Given the description of an element on the screen output the (x, y) to click on. 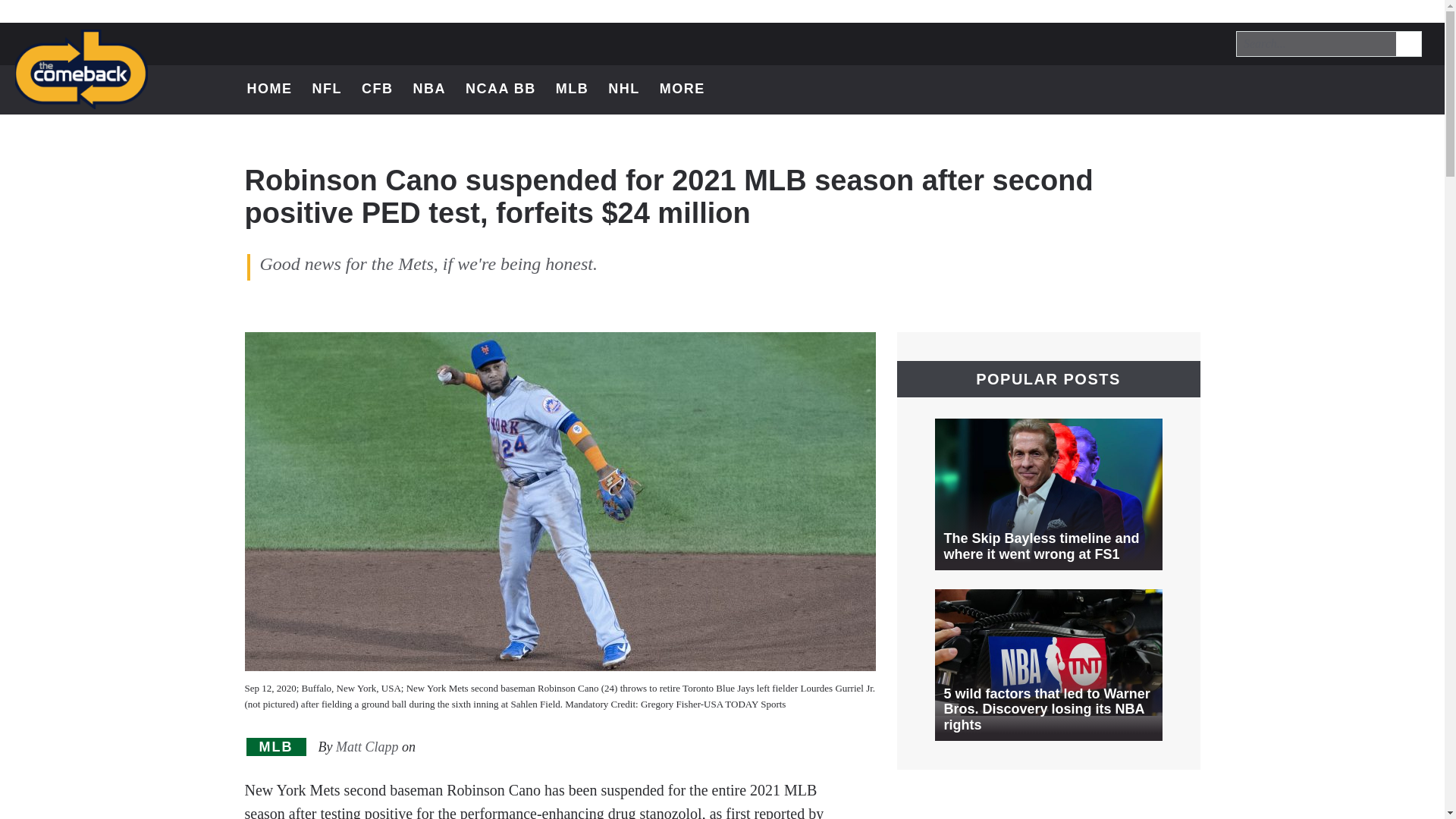
Link to Facebook (1296, 89)
View all posts in MLB (1336, 89)
Link to Twitter (275, 746)
Link to Instagram (1296, 89)
SEARCH (1375, 89)
MLB (1375, 89)
MLB (1407, 42)
NCAA BB (275, 746)
MORE (572, 89)
Link to RSS (500, 89)
HOME (689, 89)
Matt Clapp (1414, 89)
